Given the description of an element on the screen output the (x, y) to click on. 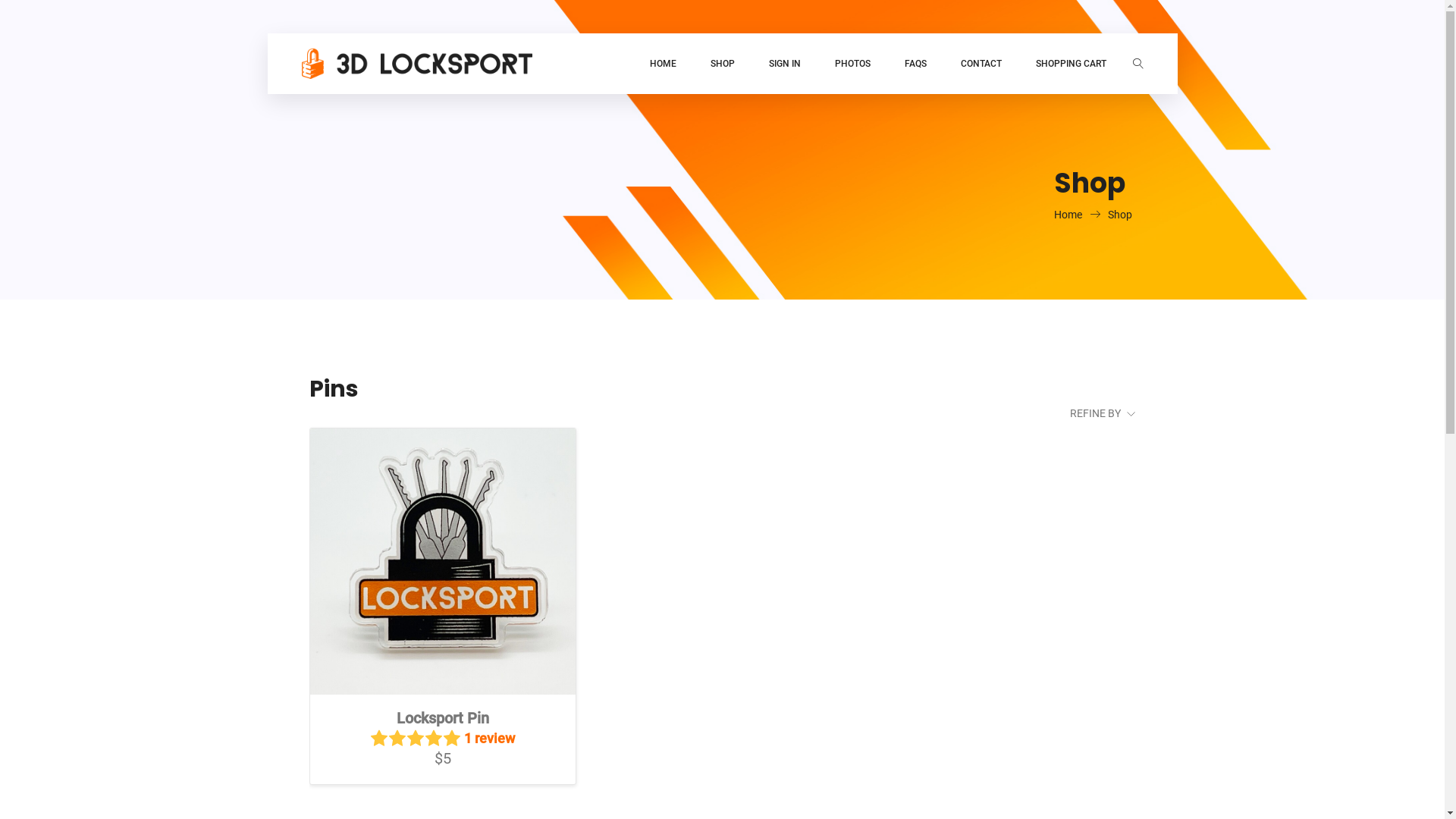
SHOPPING CART Element type: text (1070, 63)
Locksport Pin
1 review Element type: text (442, 728)
Shop Element type: text (1119, 214)
CONTACT Element type: text (980, 63)
SIGN IN Element type: text (784, 63)
HOME Element type: text (662, 63)
SHOP Element type: text (721, 63)
Locksport Pin Element type: hover (442, 561)
FAQS Element type: text (914, 63)
PHOTOS Element type: text (851, 63)
Home Element type: text (1080, 214)
